Given the description of an element on the screen output the (x, y) to click on. 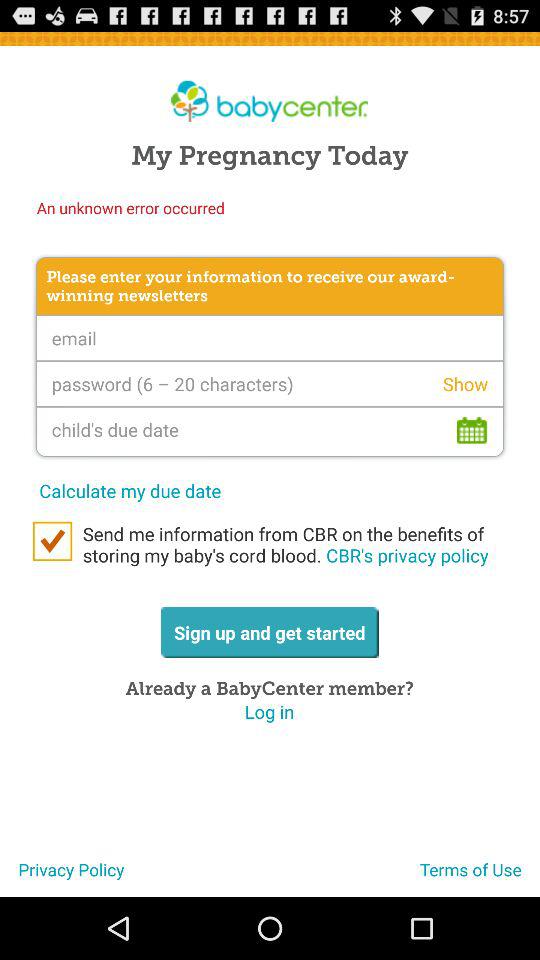
click icon below the send me information (480, 877)
